Given the description of an element on the screen output the (x, y) to click on. 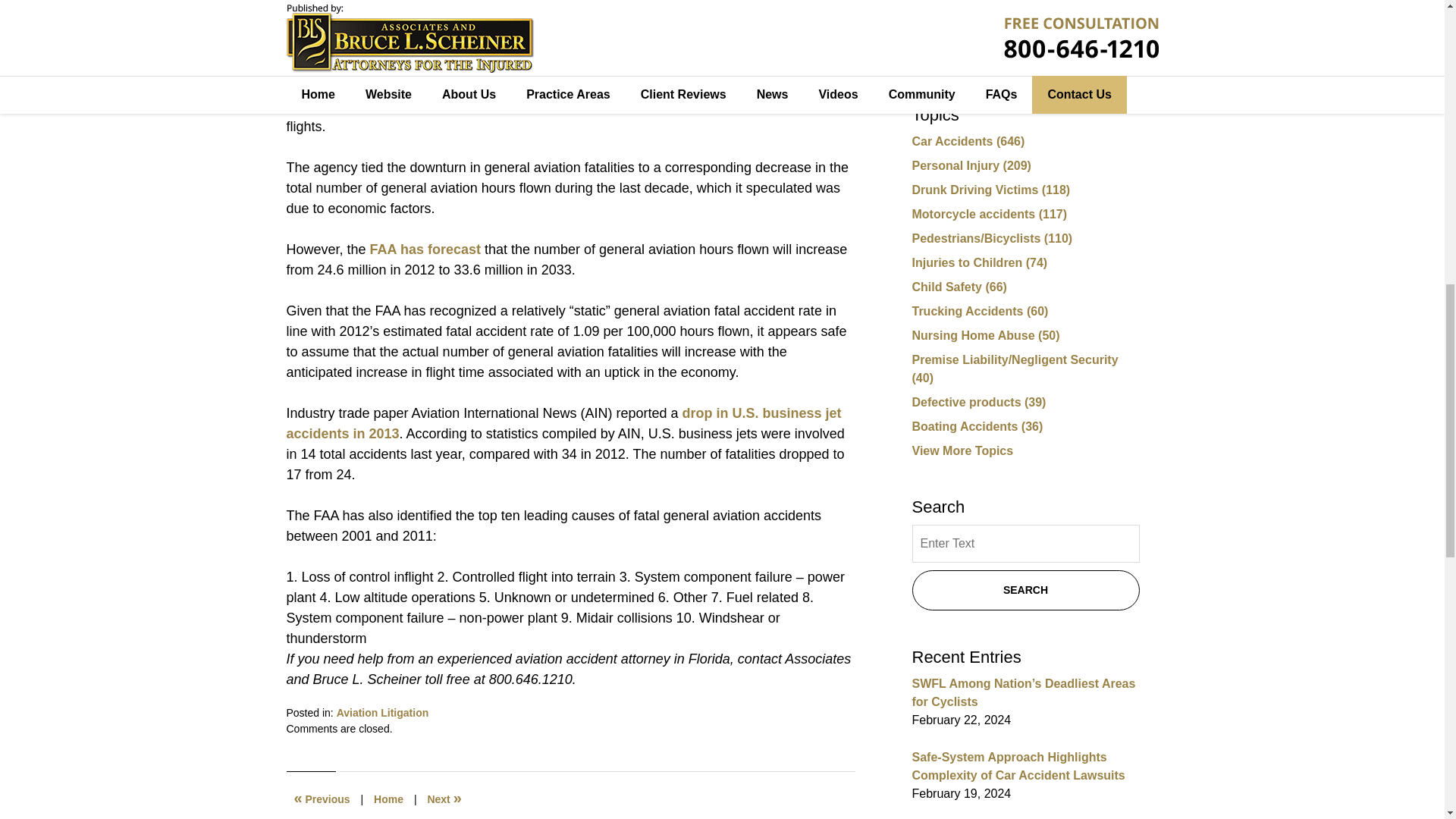
Aviation Litigation (382, 712)
FAA has forecast (424, 249)
Malpractice Risk Shadows Cosmetic Dentistry Boom (443, 799)
Home (388, 799)
Your Email (1024, 9)
View all posts in Aviation Litigation (382, 712)
aviation safety fact sheet (584, 64)
drop in U.S. business jet accidents in 2013 (563, 423)
